Given the description of an element on the screen output the (x, y) to click on. 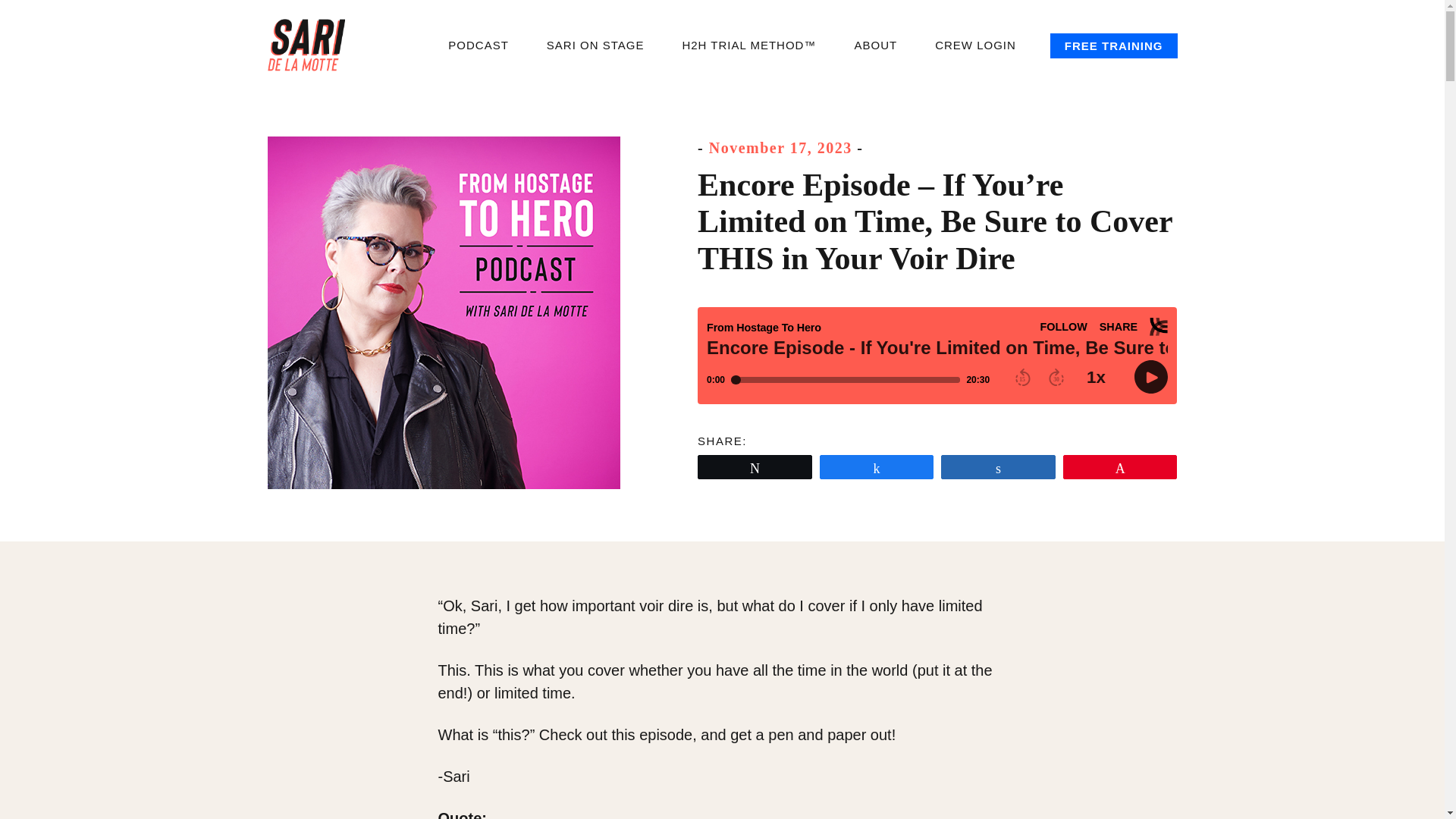
FREE TRAINING (1113, 45)
Embed Player (936, 355)
CREW LOGIN (975, 45)
SARI ON STAGE (596, 45)
